Given the description of an element on the screen output the (x, y) to click on. 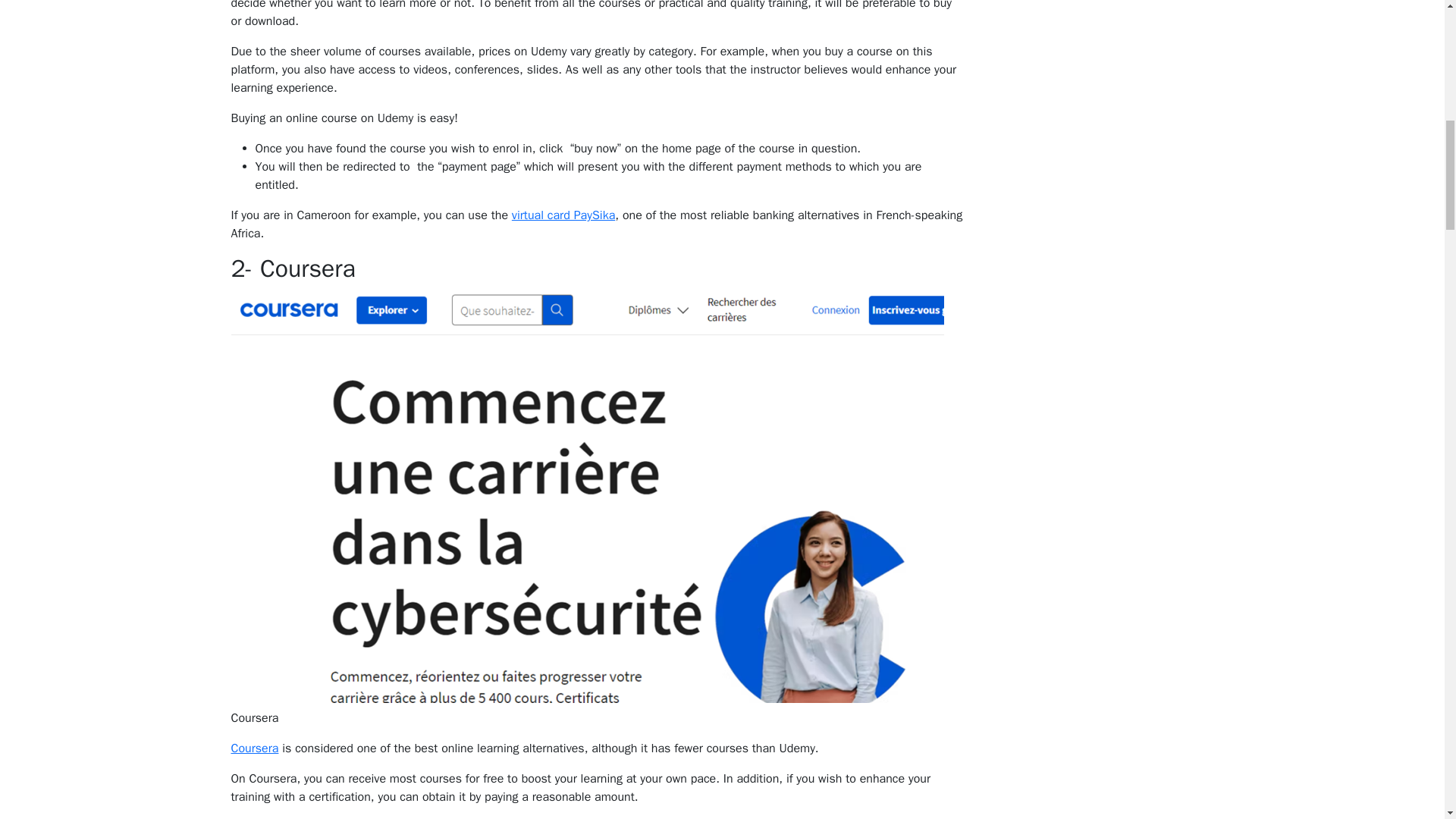
Coursera (254, 748)
virtual card PaySika (563, 215)
